Given the description of an element on the screen output the (x, y) to click on. 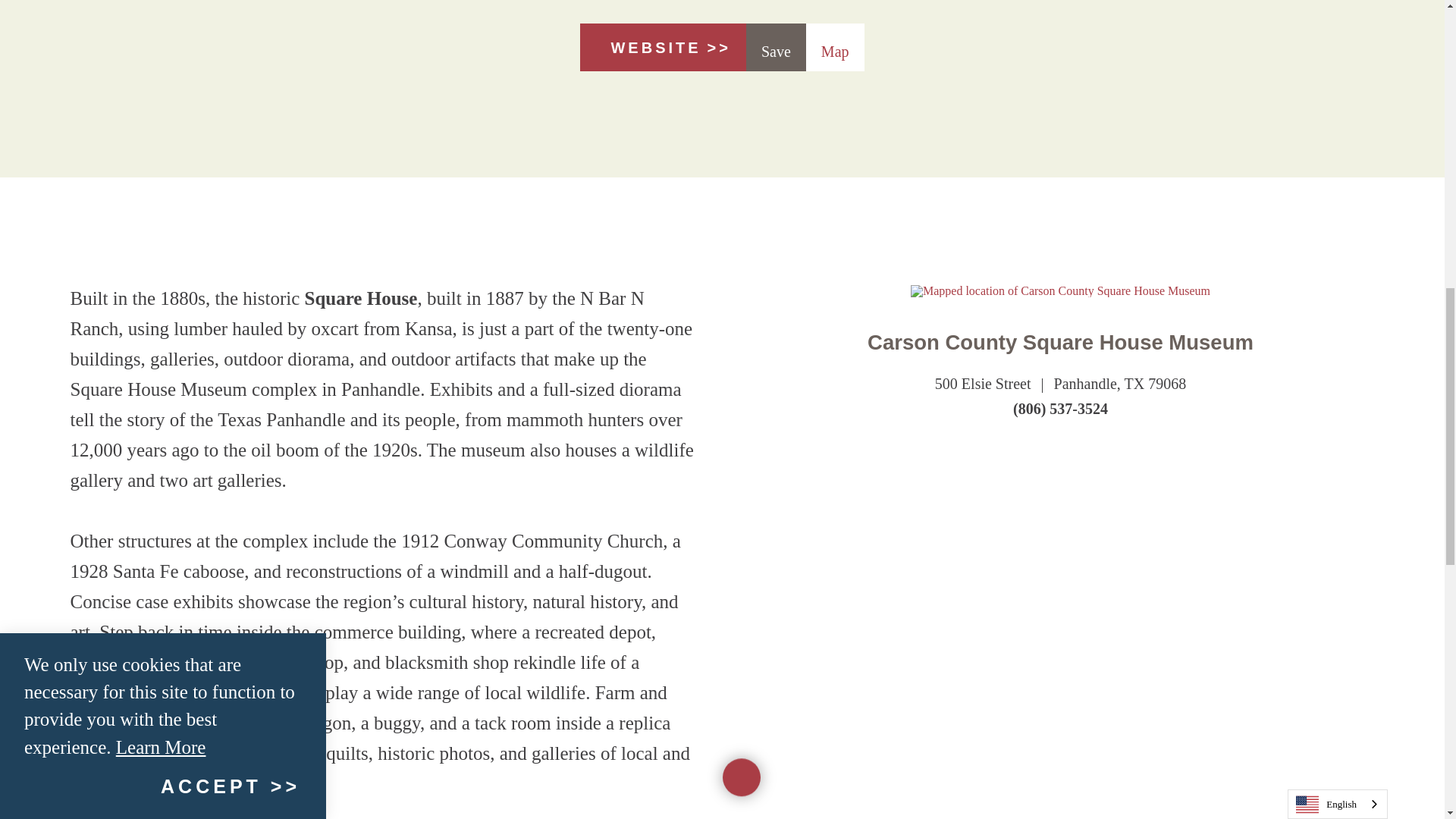
Save (775, 47)
WEBSITE (662, 47)
Map (835, 47)
